Given the description of an element on the screen output the (x, y) to click on. 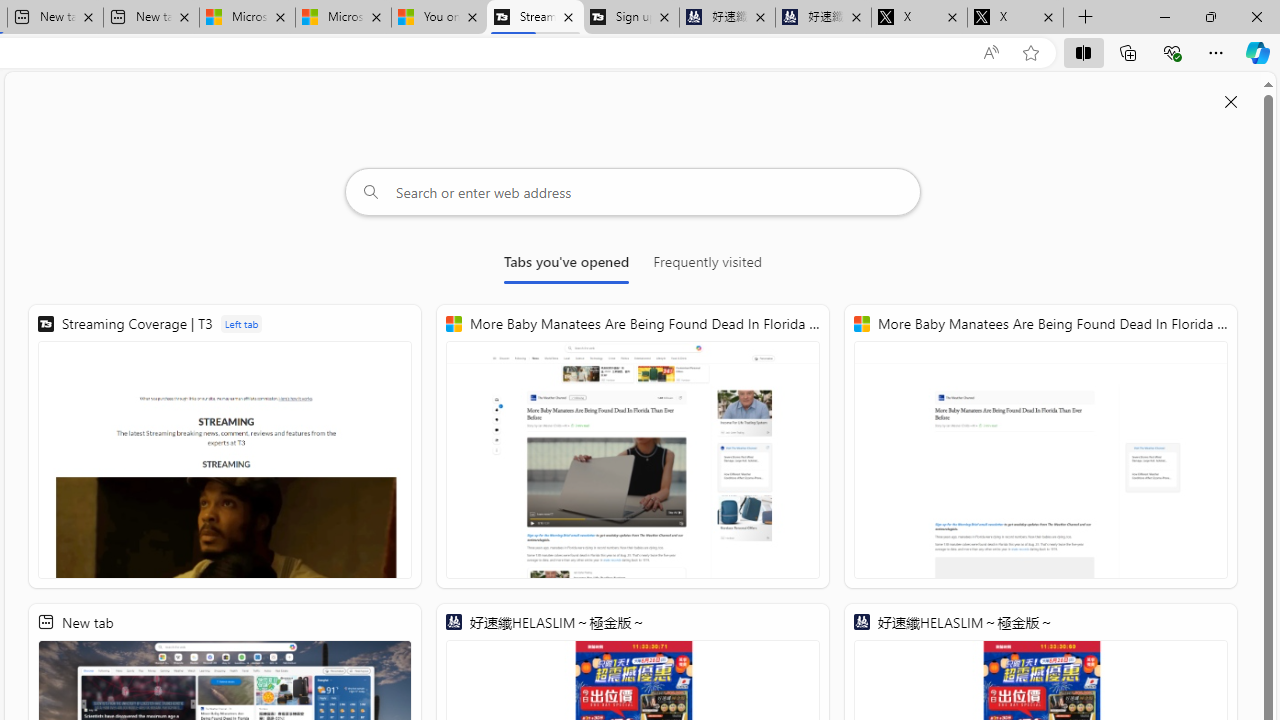
Frequently visited (707, 265)
Streaming Coverage | T3 (225, 446)
Microsoft Start Sports (247, 17)
Tabs you've opened (566, 265)
